Given the description of an element on the screen output the (x, y) to click on. 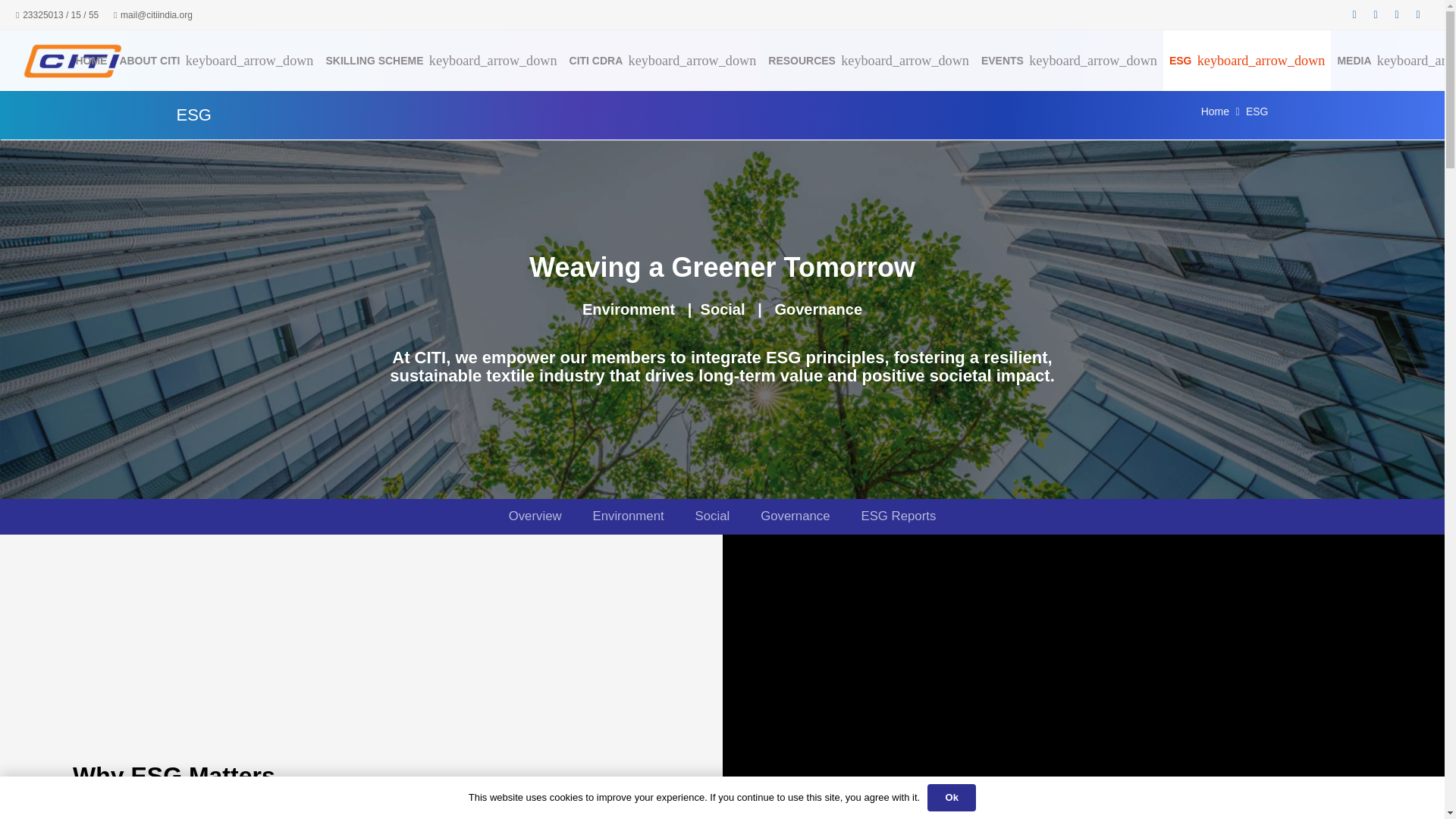
Twitter (1375, 14)
ABOUT CITI (215, 60)
SKILLING SCHEME (440, 60)
LinkedIn (1396, 14)
YouTube (1417, 14)
CITI CDRA (662, 60)
Facebook (1354, 14)
